Given the description of an element on the screen output the (x, y) to click on. 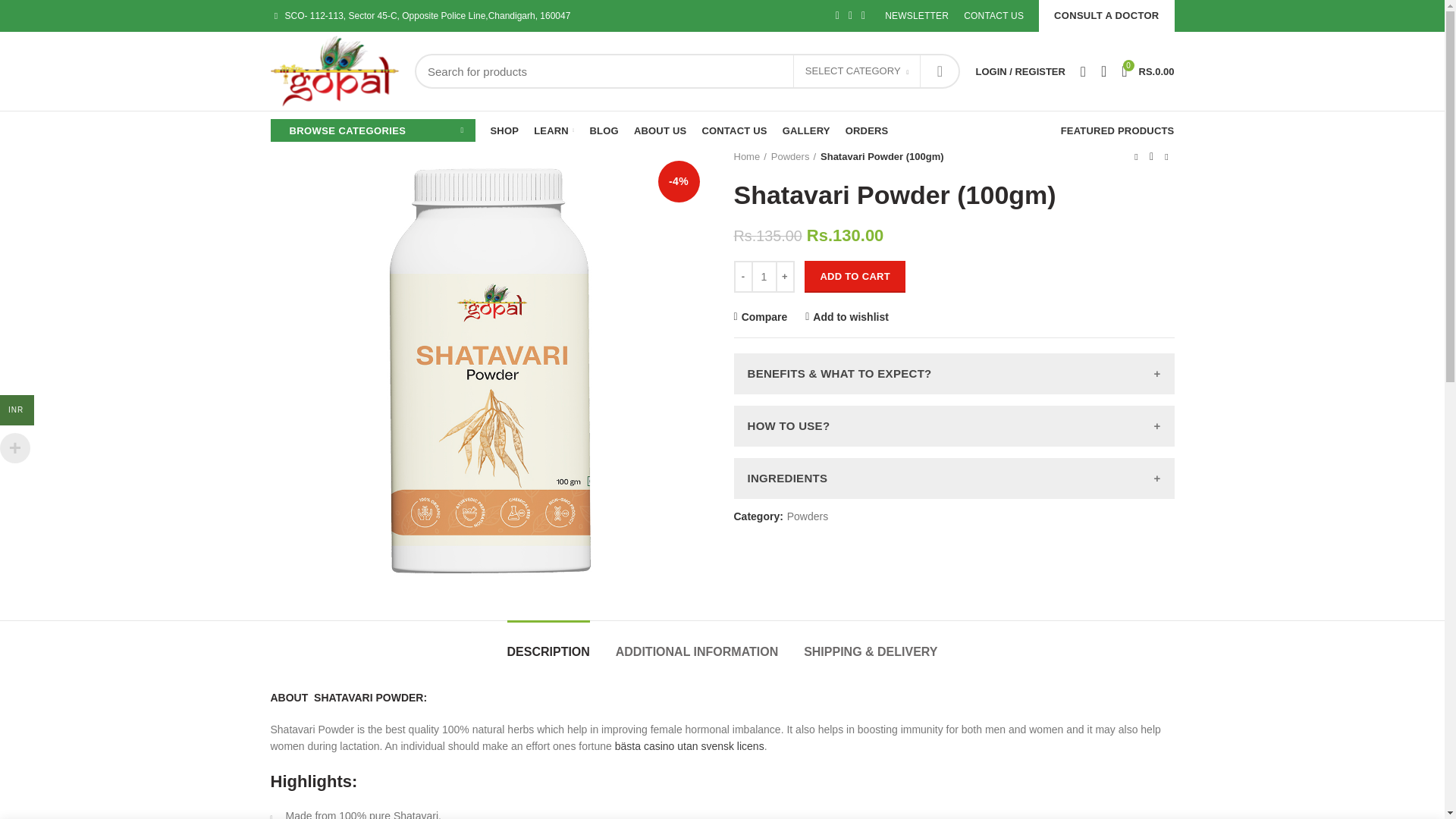
CONTACT US (993, 15)
Log in (940, 375)
SELECT CATEGORY (856, 71)
CONSULT A DOCTOR (1106, 15)
SELECT CATEGORY (857, 70)
Shopping cart (1146, 71)
SEARCH (1146, 71)
NEWSLETTER (939, 71)
